Given the description of an element on the screen output the (x, y) to click on. 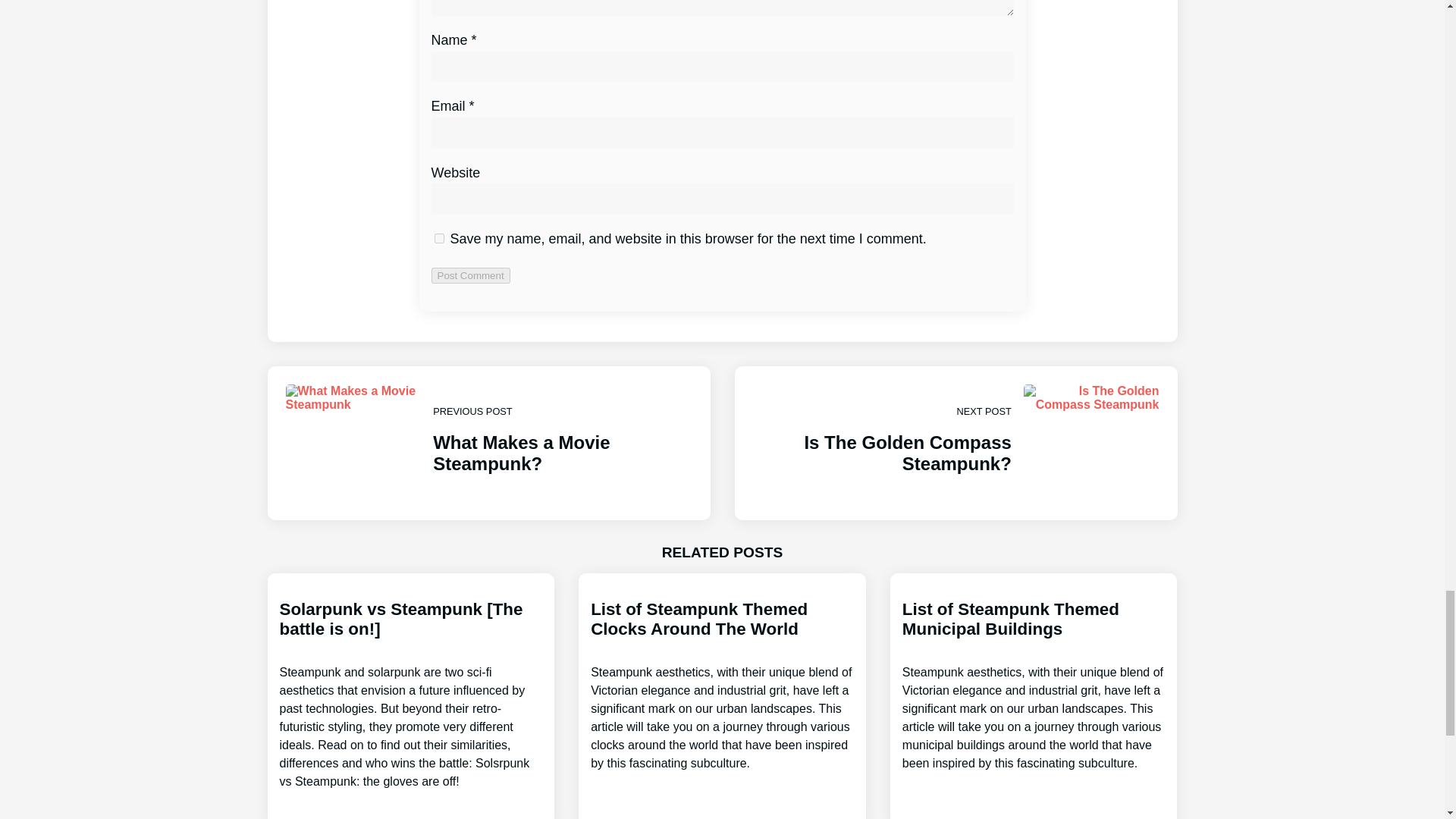
yes (438, 238)
Post Comment (488, 443)
List of Steampunk Themed Municipal Buildings (469, 275)
List of Steampunk Themed Clocks Around The World (1034, 686)
Post Comment (954, 443)
